Given the description of an element on the screen output the (x, y) to click on. 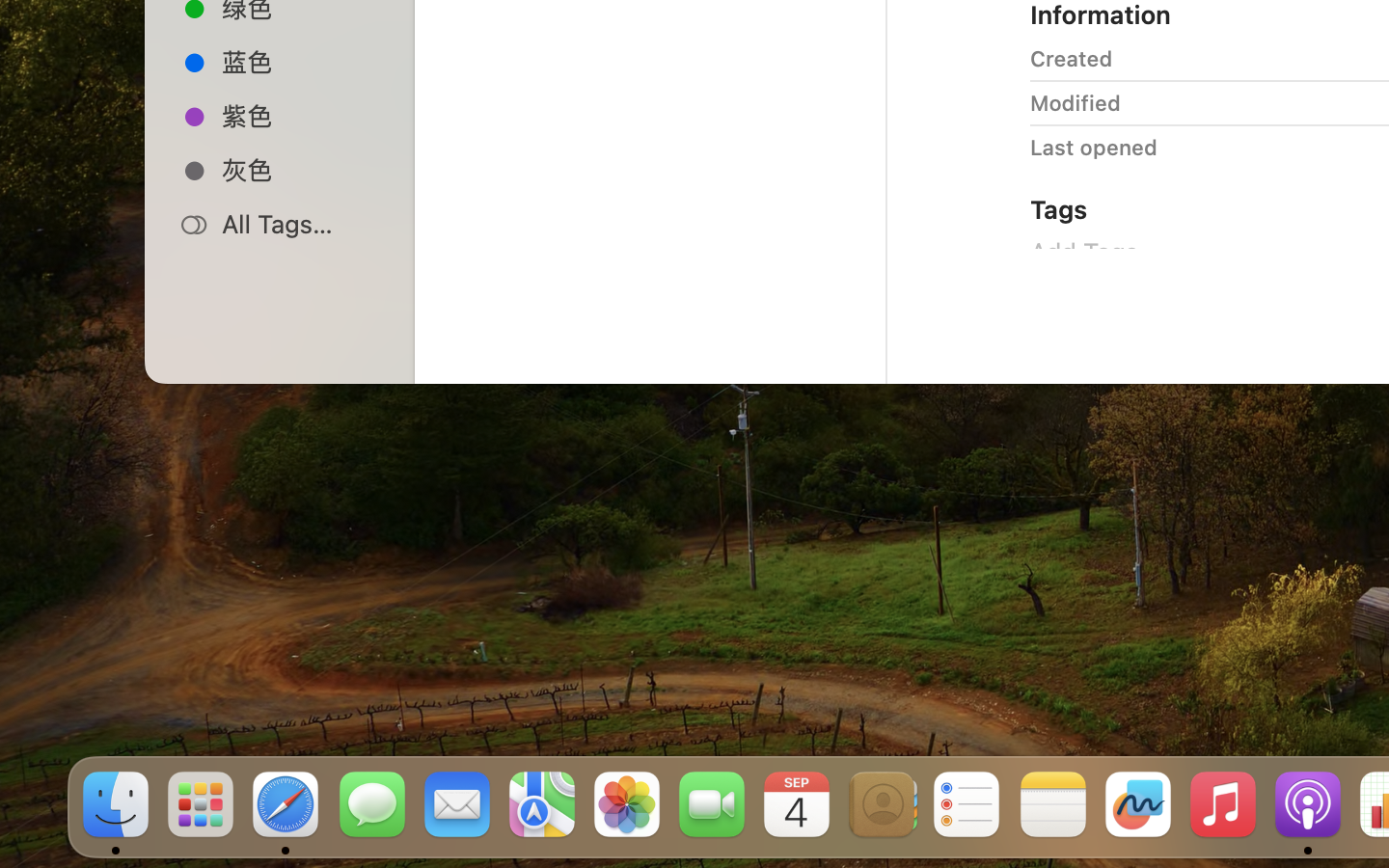
Created Element type: AXStaticText (1071, 57)
All Tags… Element type: AXStaticText (299, 223)
Modified Element type: AXStaticText (1075, 101)
